Given the description of an element on the screen output the (x, y) to click on. 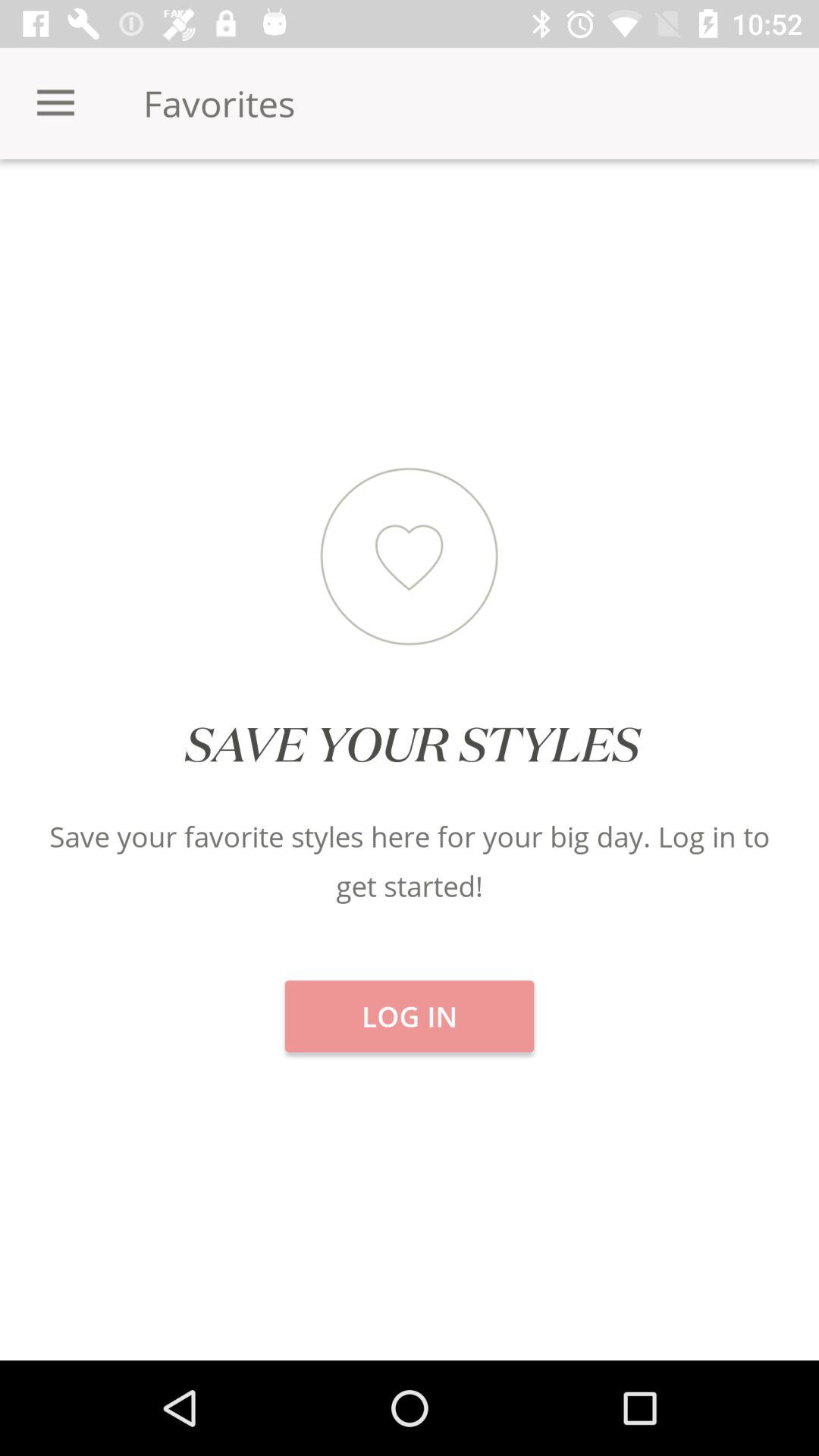
click icon below favorites (136, 212)
